Given the description of an element on the screen output the (x, y) to click on. 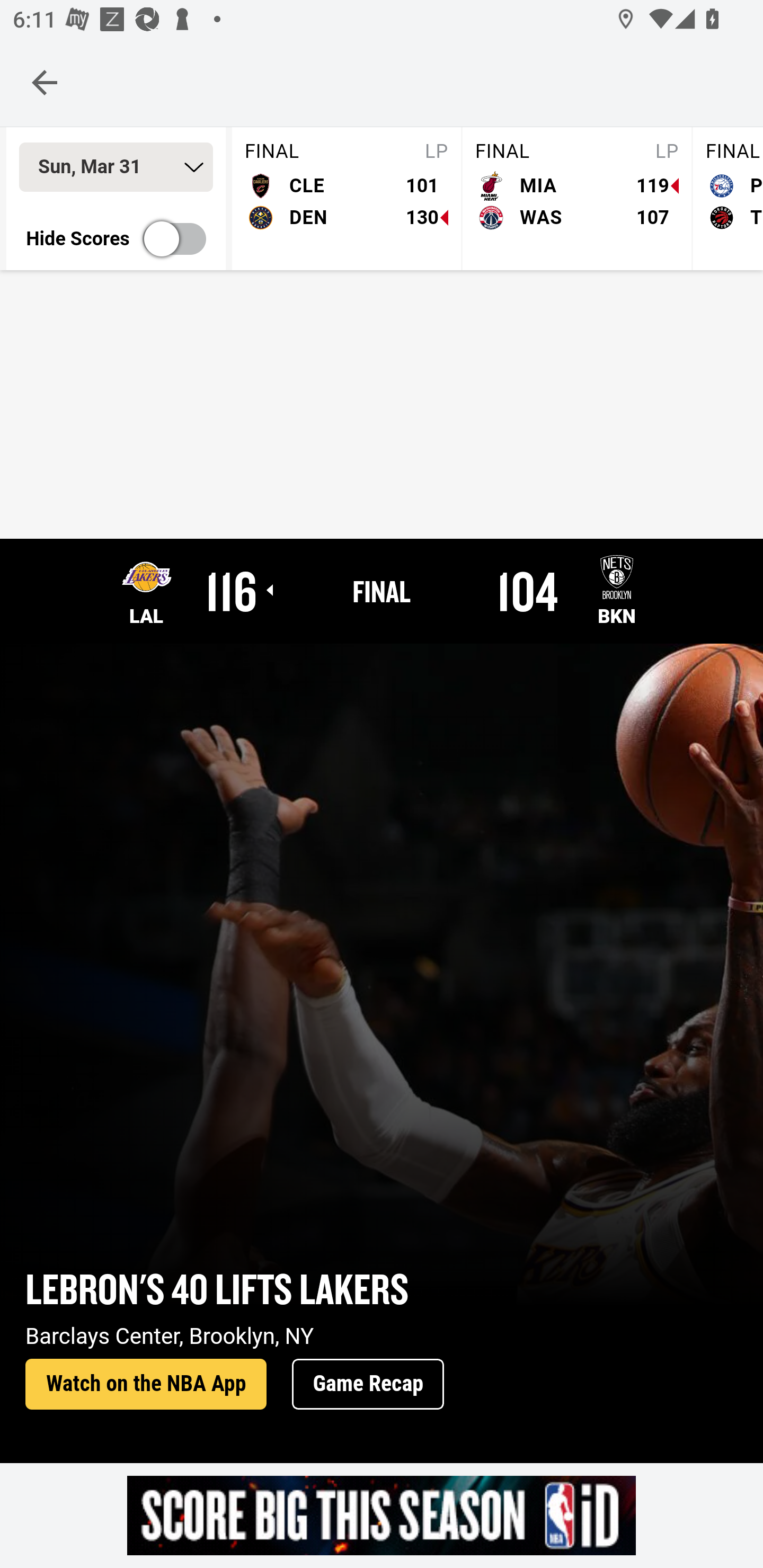
Navigate up (44, 82)
Sun, Mar 31 (115, 166)
Watch on the NBA App (146, 1384)
Game Recap (367, 1384)
g5nqqygr7owph (381, 1515)
